Given the description of an element on the screen output the (x, y) to click on. 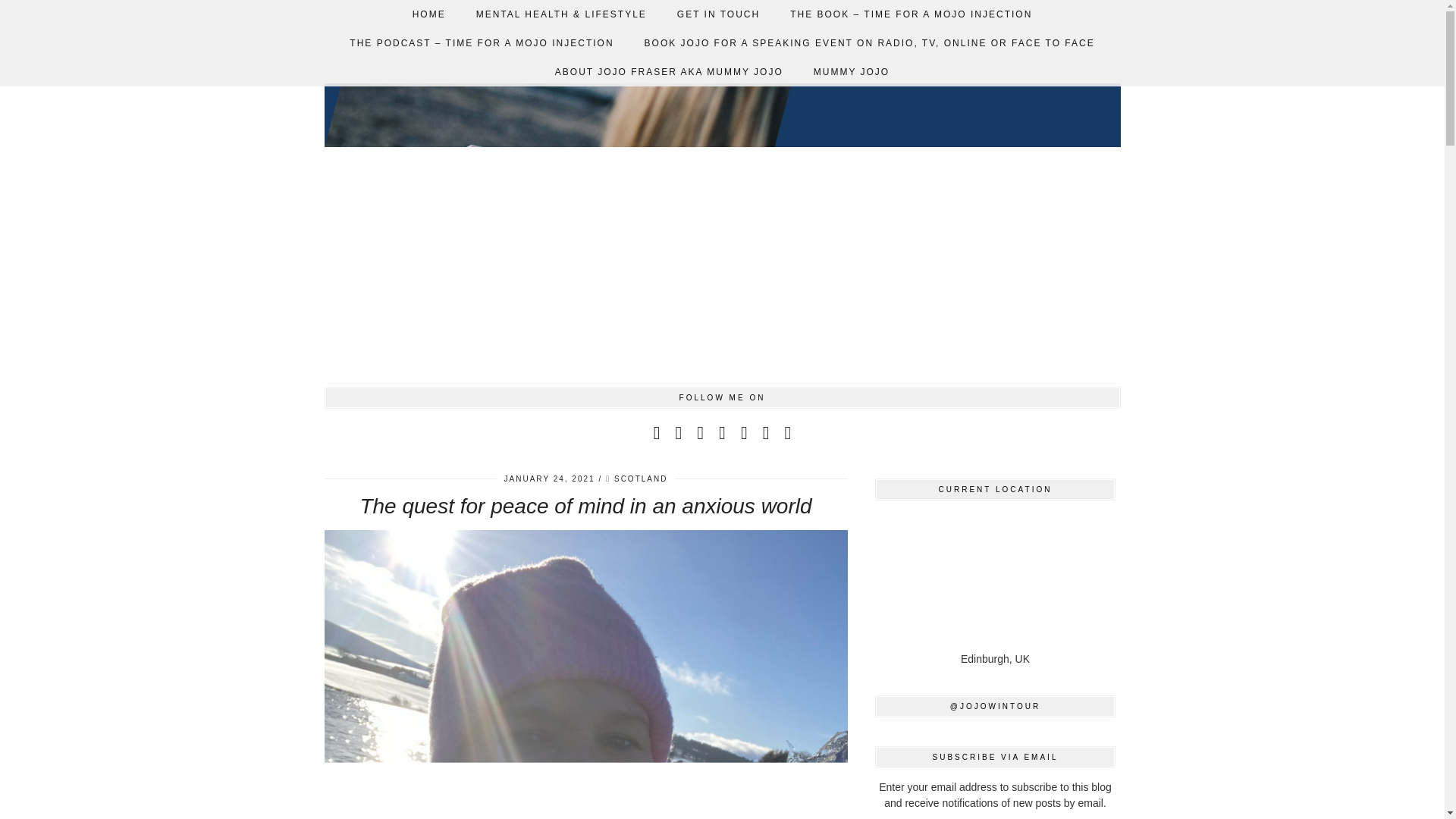
GET IN TOUCH (718, 14)
MUMMY JOJO (850, 71)
HOME (429, 14)
ABOUT JOJO FRASER AKA MUMMY JOJO (668, 71)
